Given the description of an element on the screen output the (x, y) to click on. 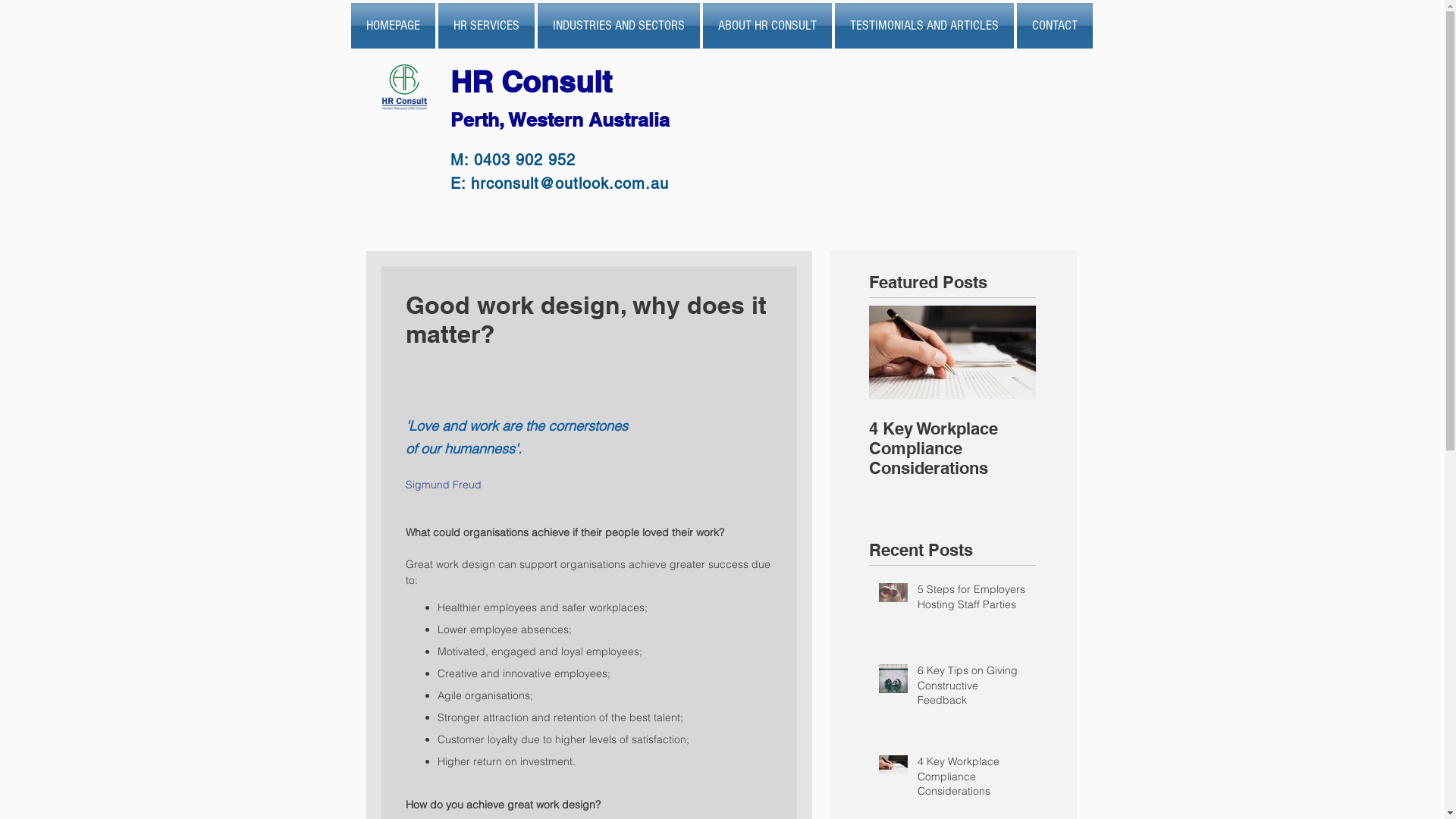
hrconsult@outlook.com.au Element type: text (569, 183)
TESTIMONIALS AND ARTICLES Element type: text (923, 25)
CONTACT Element type: text (1053, 25)
HR SERVICES Element type: text (486, 25)
  Element type: text (672, 115)
INDUSTRIES AND SECTORS Element type: text (617, 25)
HR Consult  Element type: text (535, 81)
HOMEPAGE Element type: text (393, 25)
ABOUT HR CONSULT Element type: text (766, 25)
4 Key Workplace Compliance Considerations Element type: text (952, 447)
6 Key Tips on Giving Constructive Feedback Element type: text (971, 688)
Perth, Western Australia Element type: text (559, 119)
5 Steps for Employers Hosting Staff Parties Element type: text (971, 600)
4 Key Workplace Compliance Considerations Element type: text (971, 779)
